Given the description of an element on the screen output the (x, y) to click on. 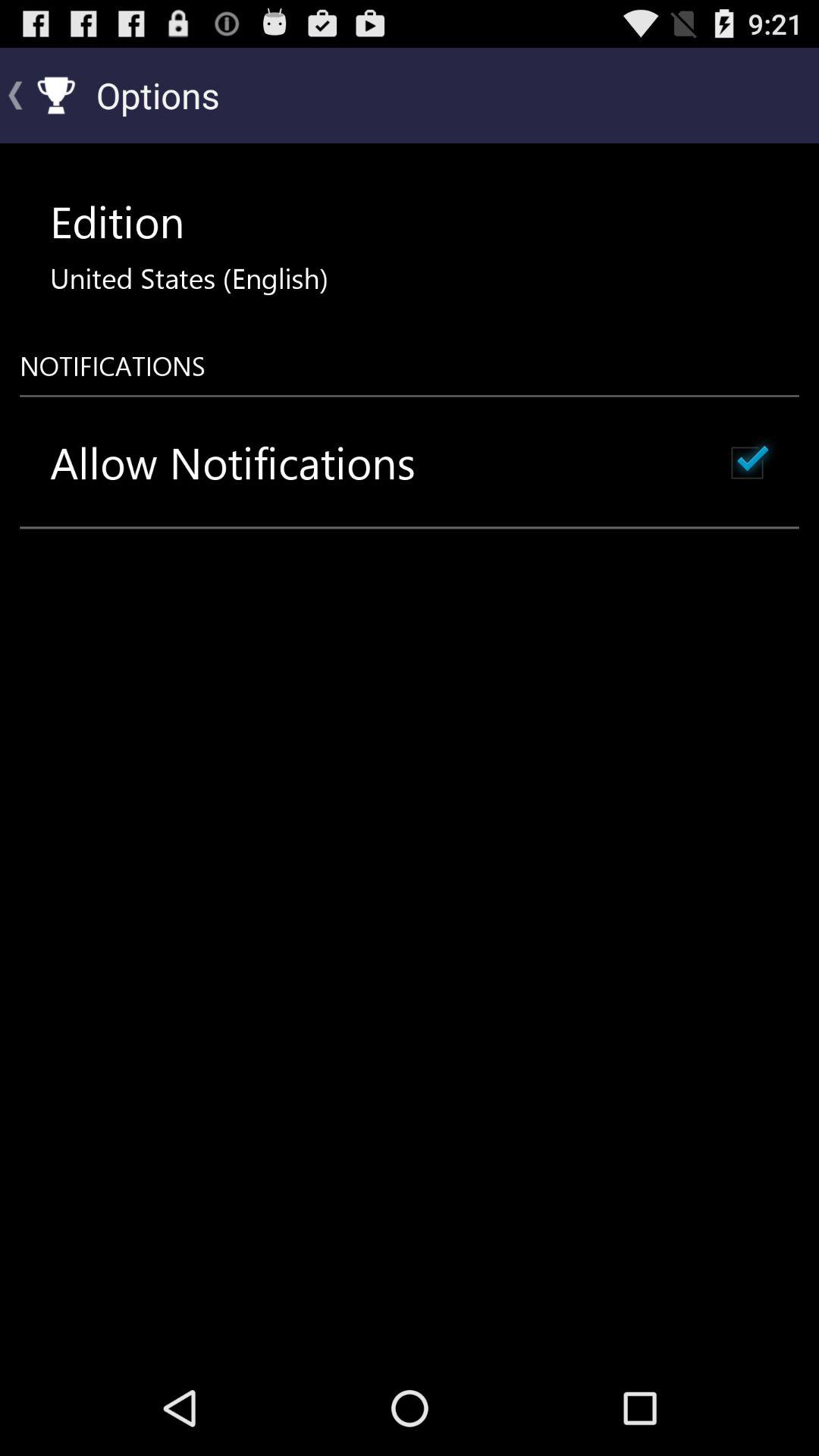
click item below the notifications item (232, 462)
